Given the description of an element on the screen output the (x, y) to click on. 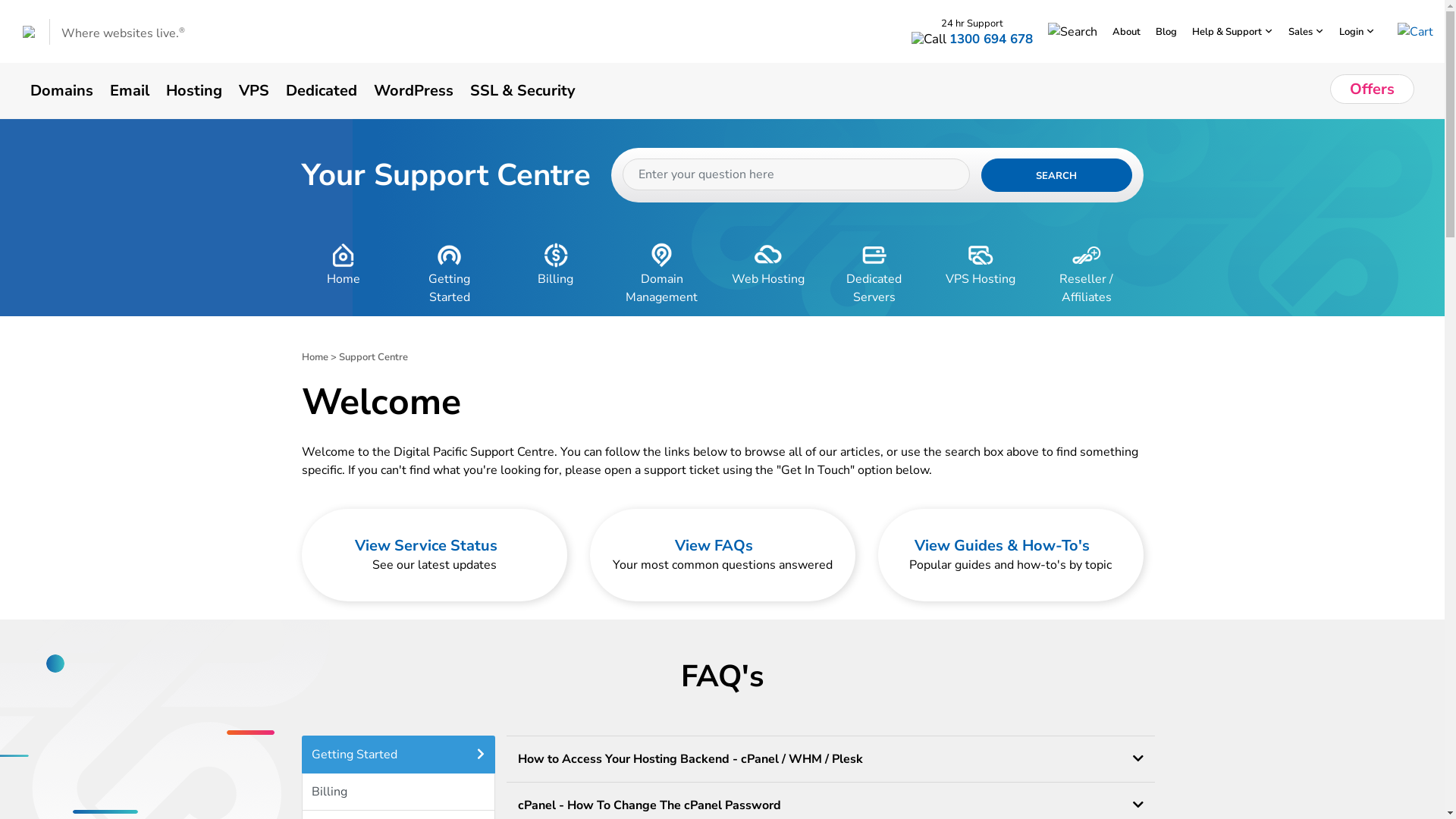
SEARCH Element type: text (1056, 174)
Domains Element type: text (69, 90)
Home Element type: text (314, 357)
Getting Started Element type: text (398, 754)
1300 694 678 Element type: text (990, 38)
VPS Element type: text (261, 90)
Login Element type: text (1356, 31)
Getting Started Element type: text (449, 274)
Email Element type: text (137, 90)
Reseller / Affiliates Element type: text (1086, 274)
WordPress Element type: text (421, 90)
Dedicated Servers Element type: text (874, 274)
About Element type: text (1126, 31)
Blog Element type: text (1165, 31)
Home Element type: text (343, 274)
View FAQs Element type: text (721, 545)
Domain Management Element type: text (661, 274)
Sales Element type: text (1306, 31)
SSL & Security Element type: text (531, 90)
VPS Hosting Element type: text (980, 274)
View your Cart Element type: hover (1415, 30)
View Service Status Element type: text (434, 545)
Hosting Element type: text (202, 90)
Dedicated Element type: text (329, 90)
Billing Element type: text (398, 791)
Web Hosting Element type: text (767, 274)
Offers Element type: text (1372, 88)
Billing Element type: text (555, 274)
Help & Support Element type: text (1232, 31)
Support Centre Element type: text (372, 357)
View Guides & How-To's Element type: text (1010, 545)
